Given the description of an element on the screen output the (x, y) to click on. 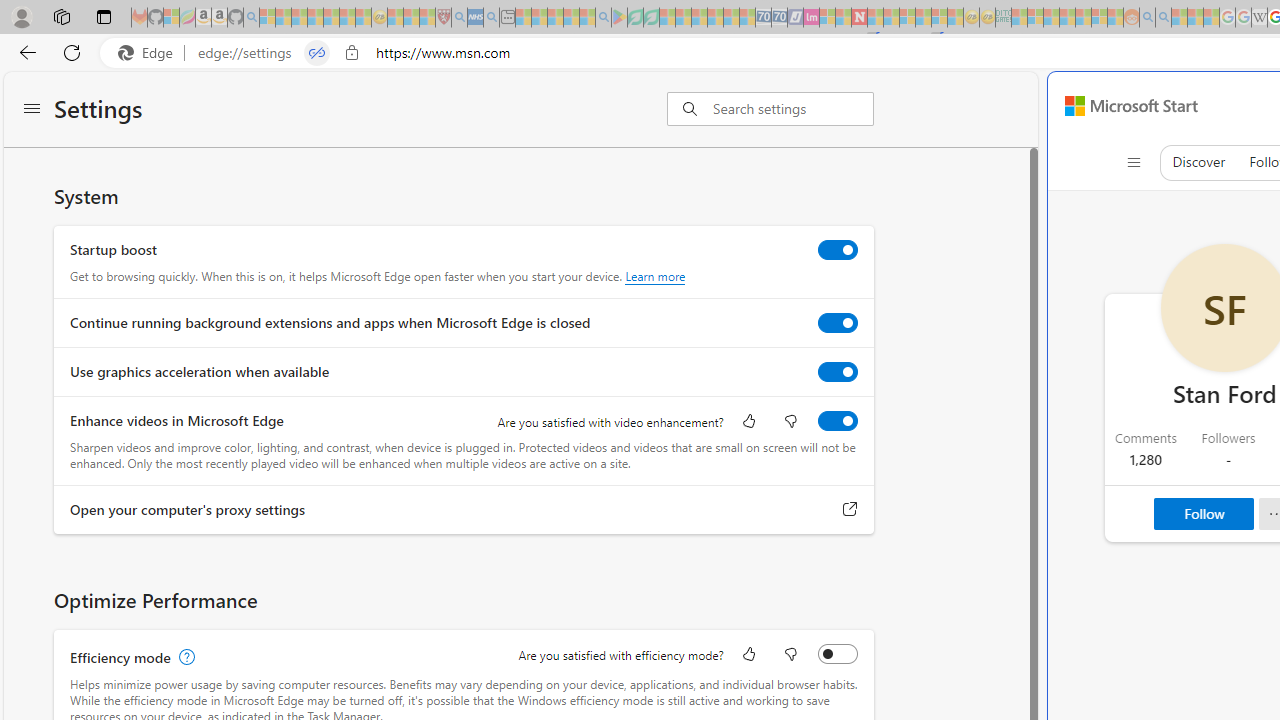
Settings menu (31, 110)
